Given the description of an element on the screen output the (x, y) to click on. 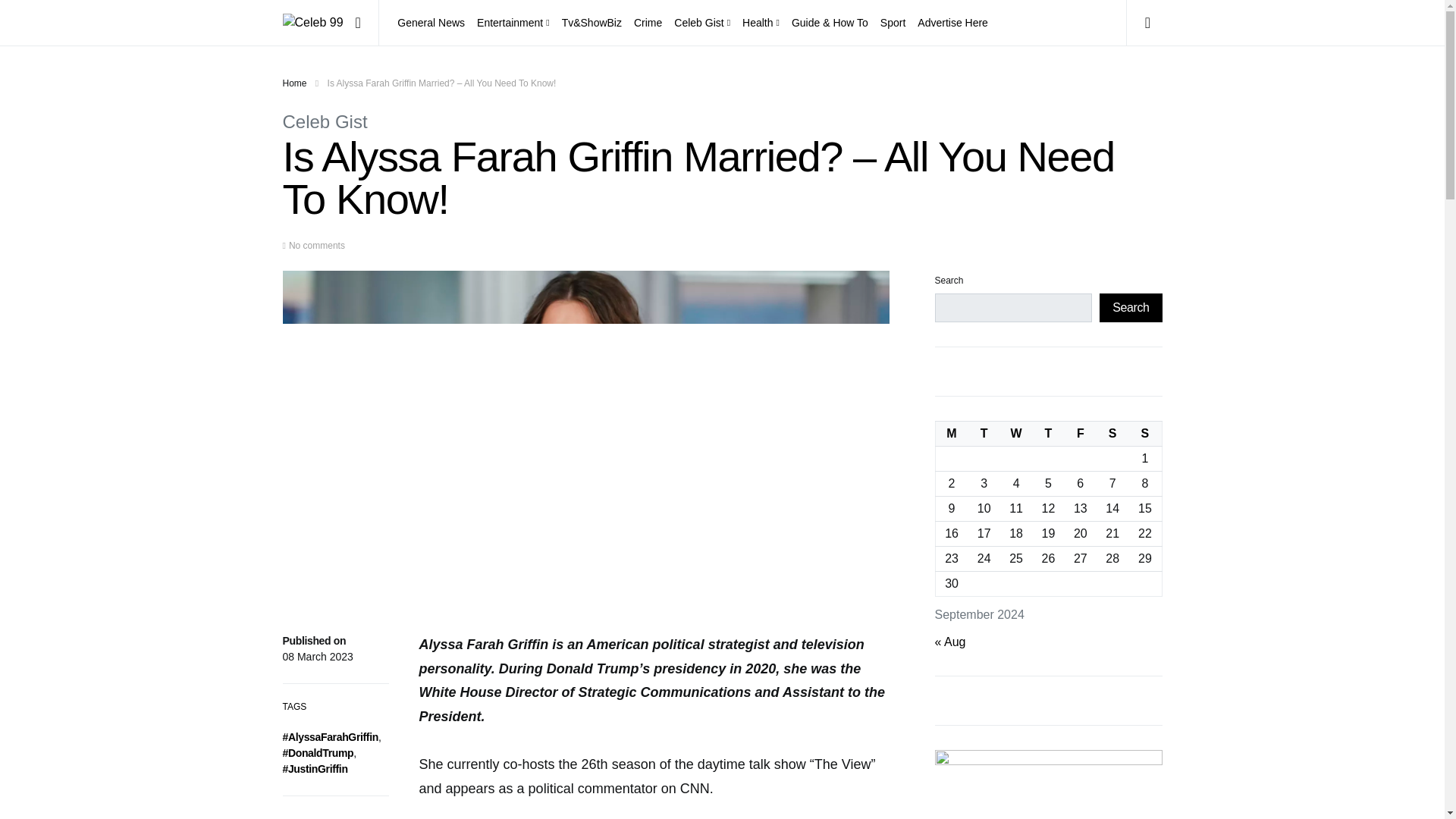
Sunday (1144, 433)
Wednesday (1016, 433)
Friday (1080, 433)
Monday (951, 433)
Saturday (1112, 433)
Tuesday (984, 433)
Thursday (1048, 433)
